Given the description of an element on the screen output the (x, y) to click on. 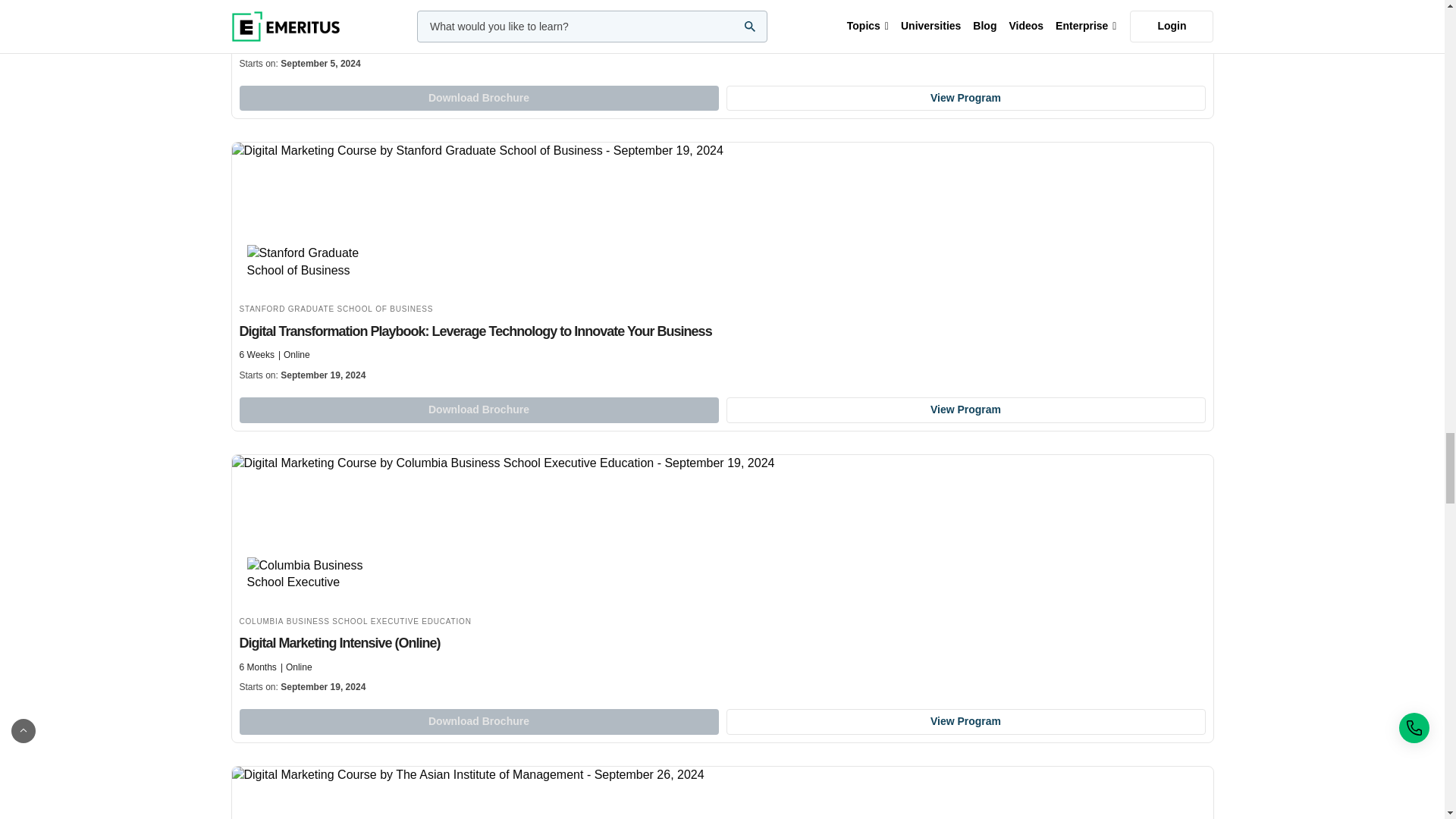
Professional Certificate in Digital Marketing (721, 38)
Stanford Graduate School of Business (312, 261)
